Given the description of an element on the screen output the (x, y) to click on. 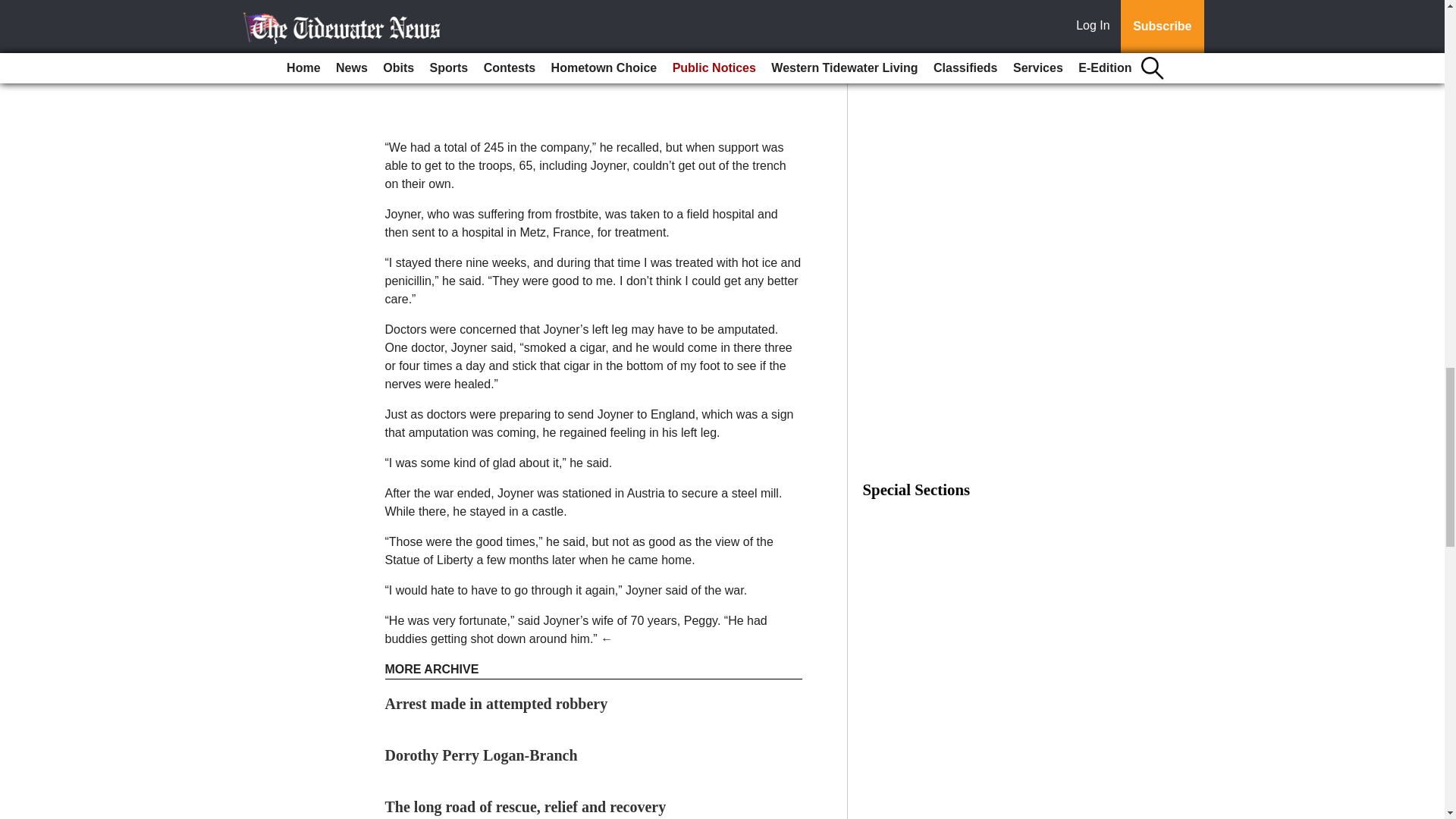
The long road of rescue, relief and recovery (525, 806)
Arrest made in attempted robbery (496, 703)
Dorothy Perry Logan-Branch (481, 754)
Dorothy Perry Logan-Branch (481, 754)
Arrest made in attempted robbery (496, 703)
The long road of rescue, relief and recovery (525, 806)
